Given the description of an element on the screen output the (x, y) to click on. 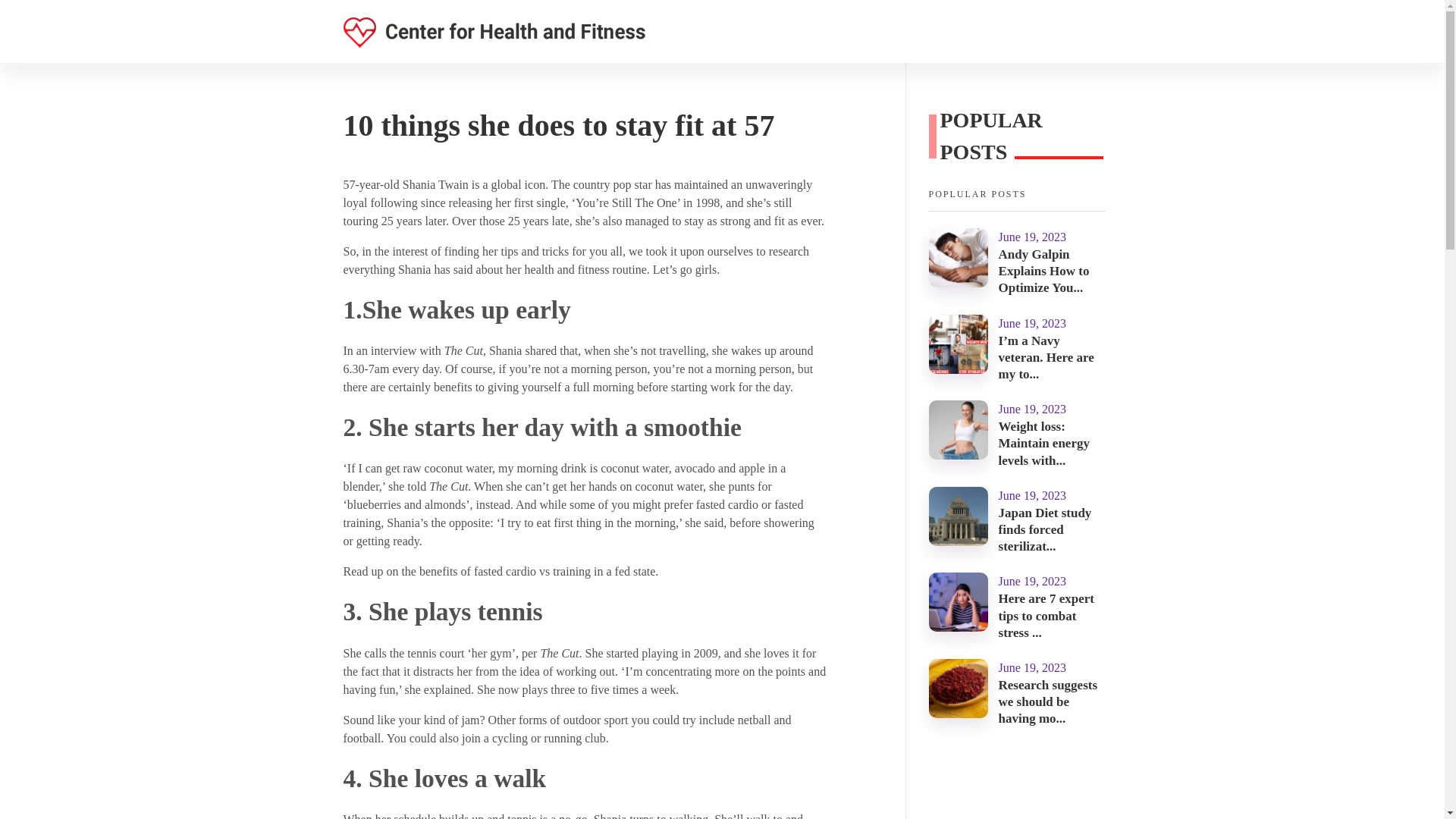
Japan Diet study finds forced sterilizat... (1045, 529)
Here are 7 expert tips to combat stress ... (1046, 615)
Research suggests we should be having mo... (1047, 701)
Center for Health and Fitness (493, 32)
Center for Health and Fitness (469, 55)
Andy Galpin Explains How to Optimize You... (1043, 270)
Center for Health and Fitness (469, 55)
Weight loss: Maintain energy levels with... (1043, 442)
